Given the description of an element on the screen output the (x, y) to click on. 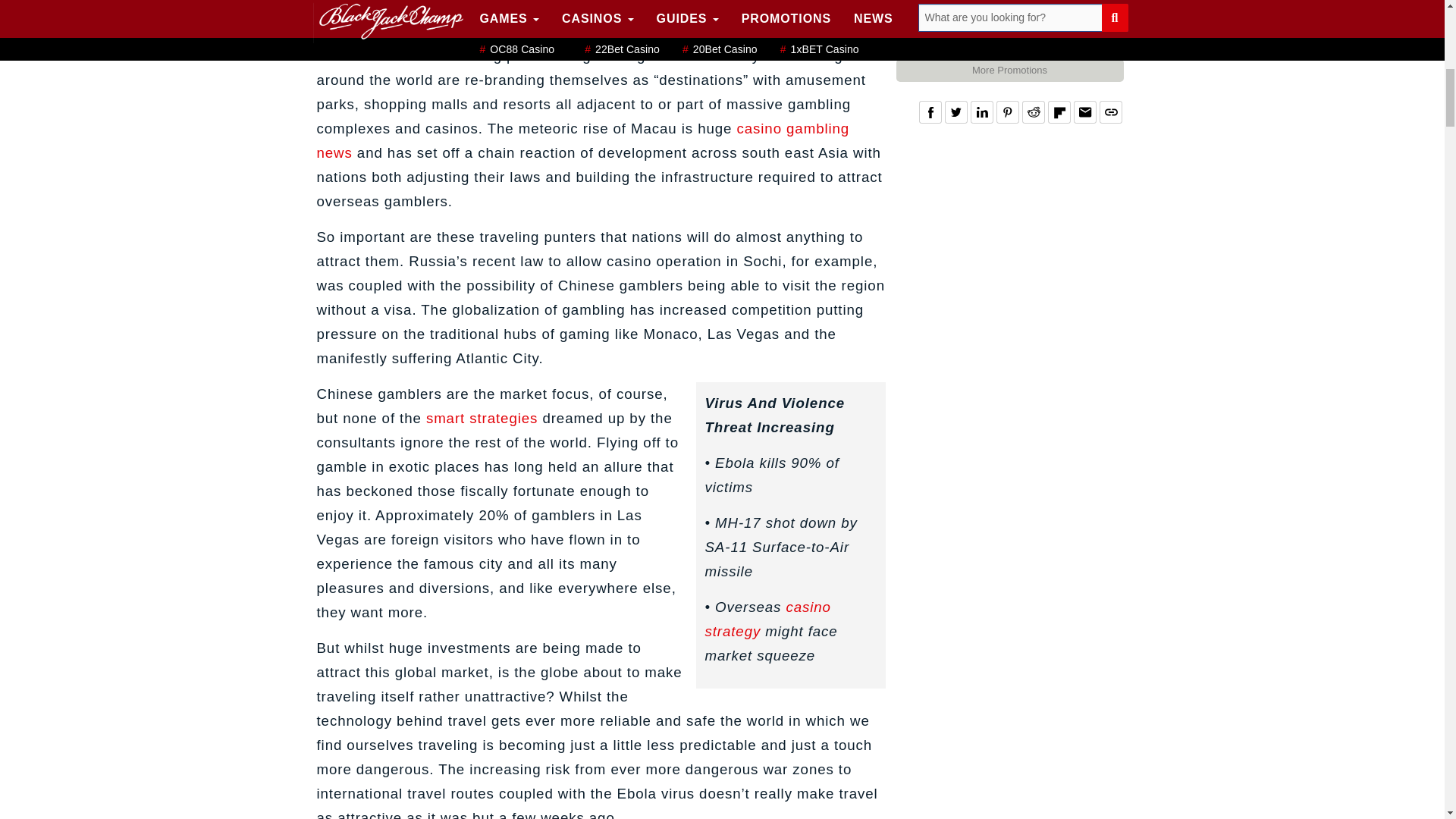
casino strategy (767, 618)
smart strategies (481, 417)
casino gambling news (583, 140)
